Given the description of an element on the screen output the (x, y) to click on. 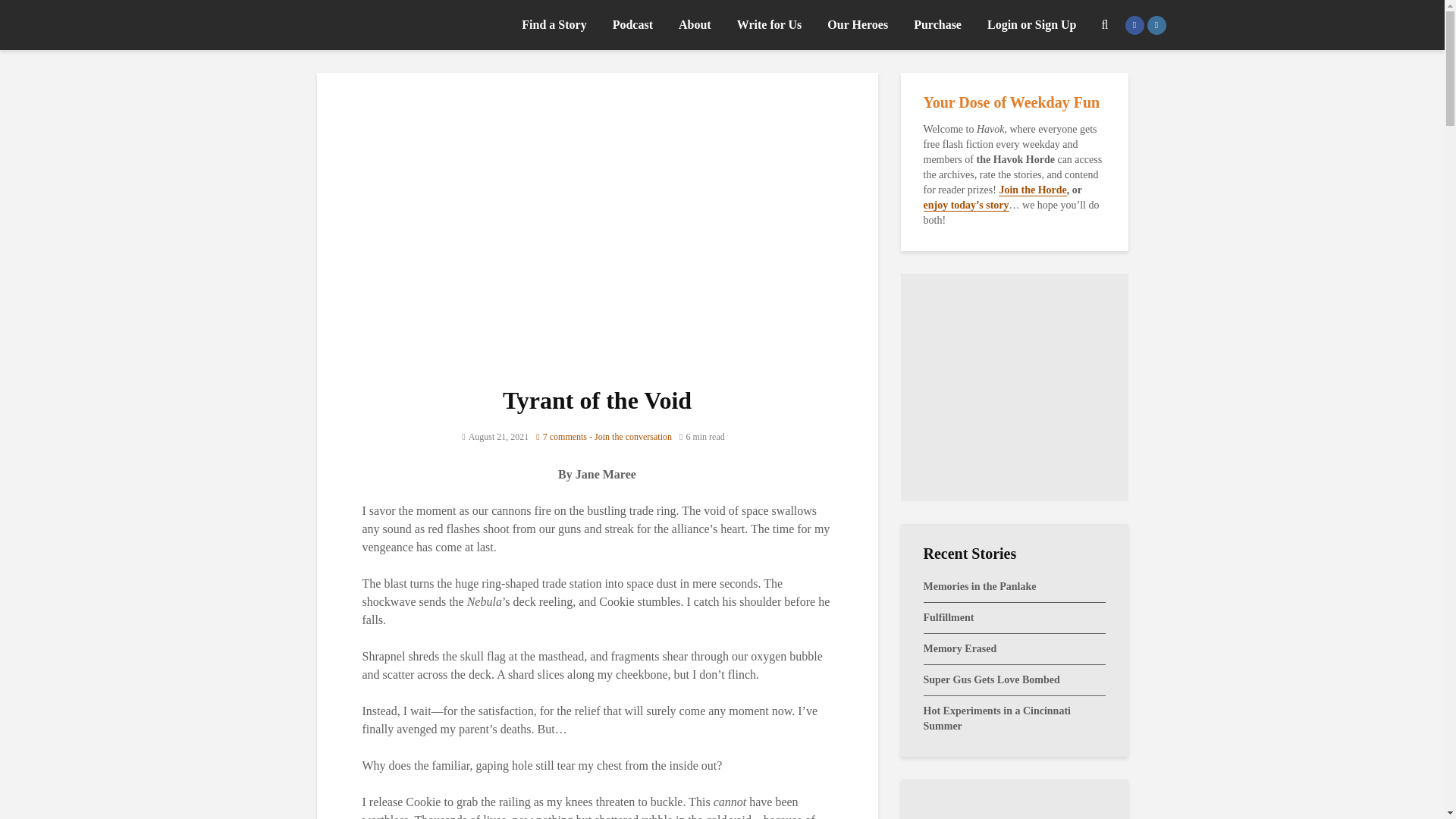
Podcast (632, 24)
Login or Sign Up (1031, 24)
About (694, 24)
Find a Story (553, 24)
Purchase (937, 24)
Our Heroes (857, 24)
Write for Us (769, 24)
